Given the description of an element on the screen output the (x, y) to click on. 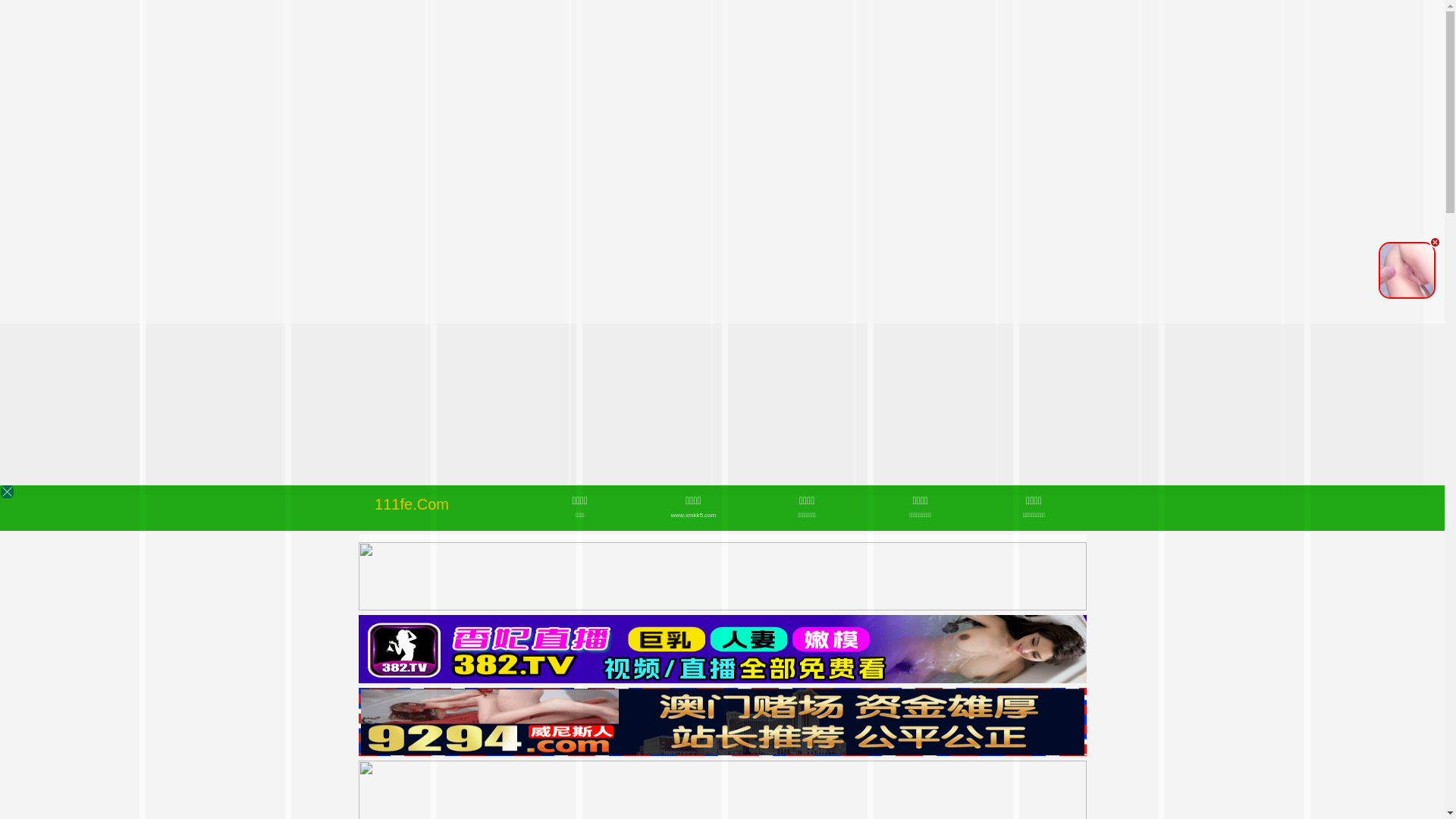
www.xmkk5.com Element type: text (693, 515)
111fe.Com Element type: text (411, 503)
